Given the description of an element on the screen output the (x, y) to click on. 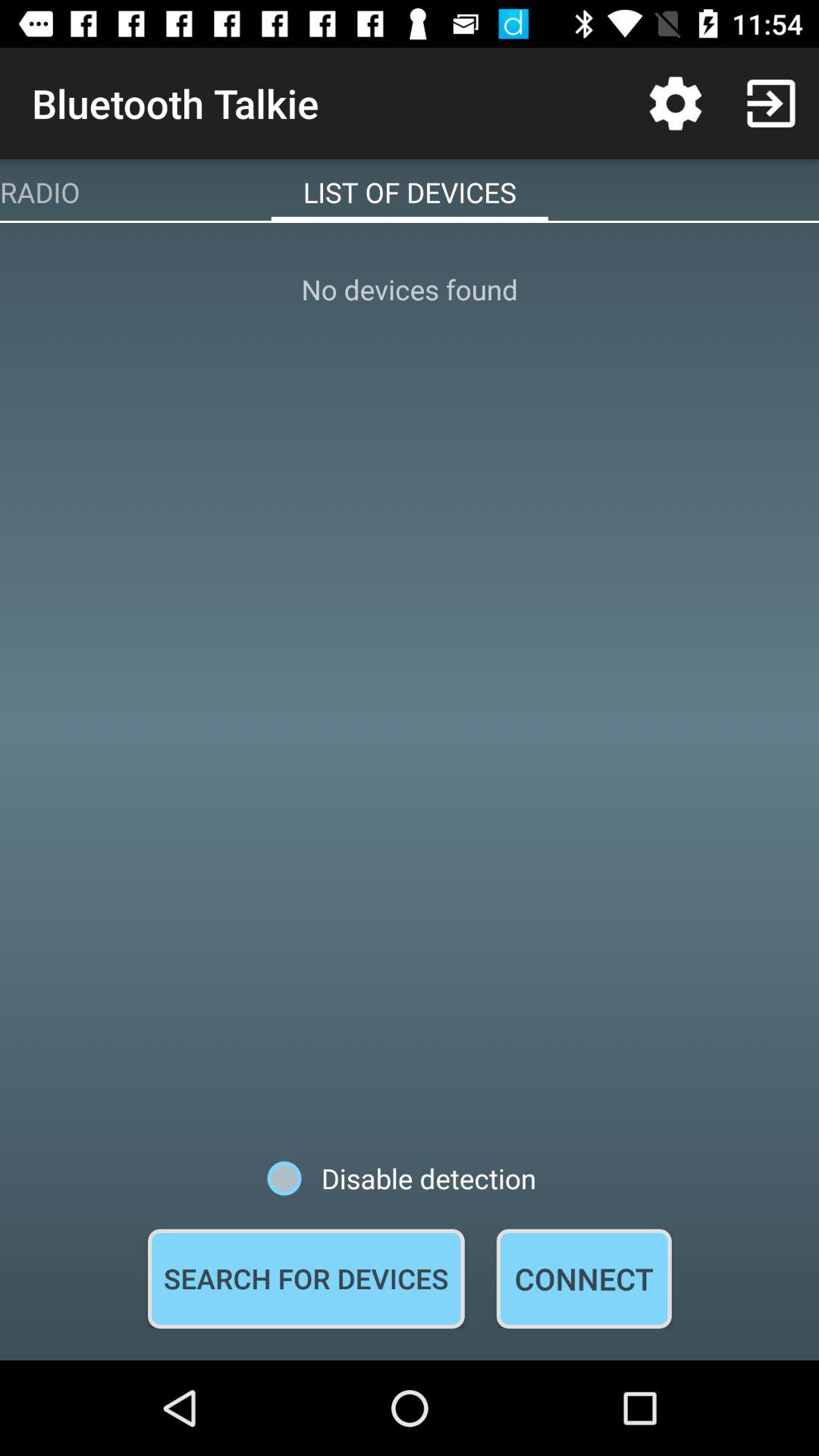
tap the icon below disable detection item (583, 1278)
